Given the description of an element on the screen output the (x, y) to click on. 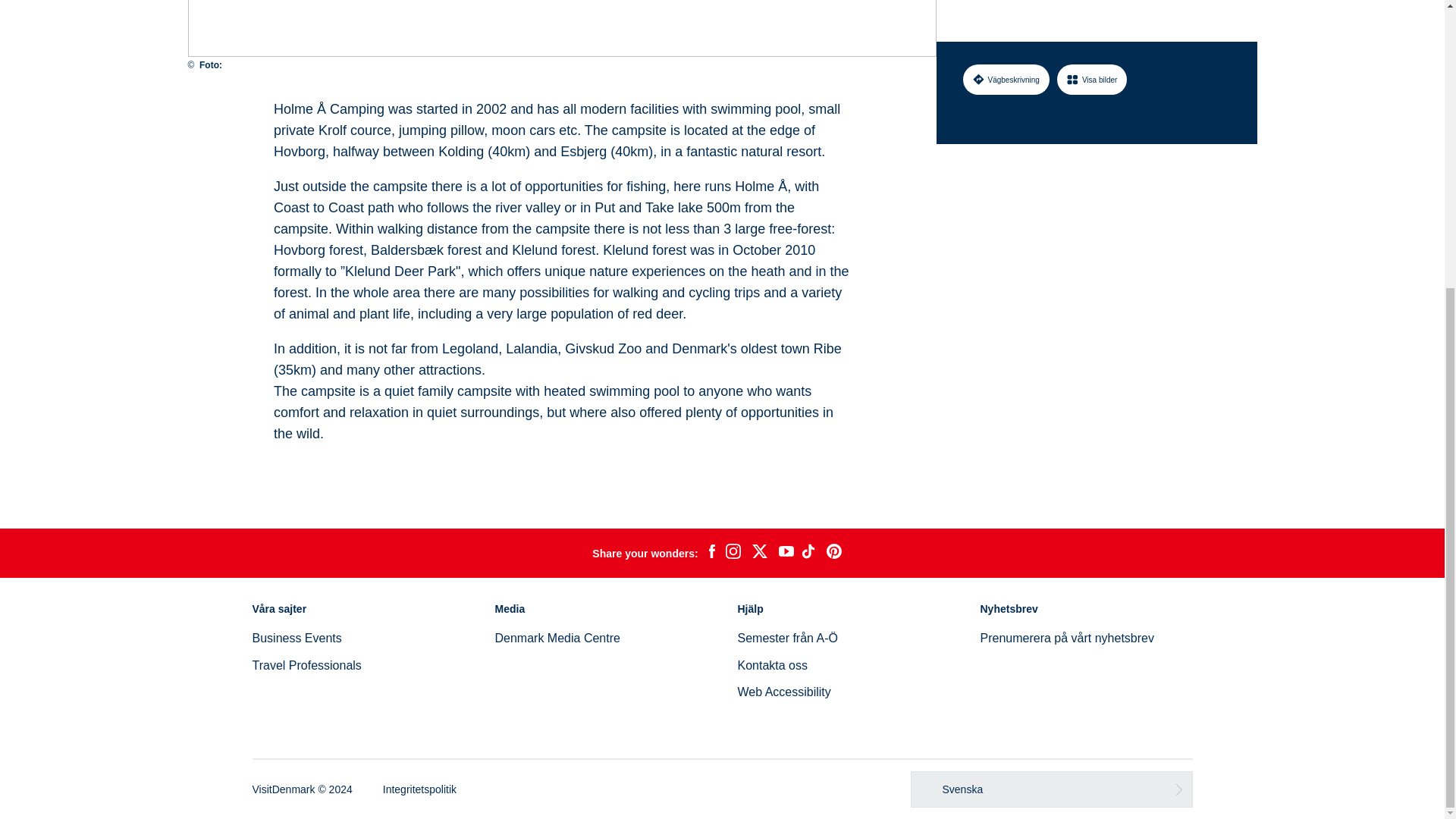
Business Events (295, 637)
Travel Professionals (306, 665)
Travel Professionals (306, 665)
Integritetspolitik (419, 789)
Kontakta oss (772, 665)
twitter (759, 553)
pinterest (834, 553)
tiktok (810, 553)
Kontakta oss (772, 665)
Business Events (295, 637)
instagram (732, 553)
Web Accessibility (782, 691)
Denmark Media Centre (557, 637)
Web Accessibility (782, 691)
Integritetspolitik (419, 789)
